Given the description of an element on the screen output the (x, y) to click on. 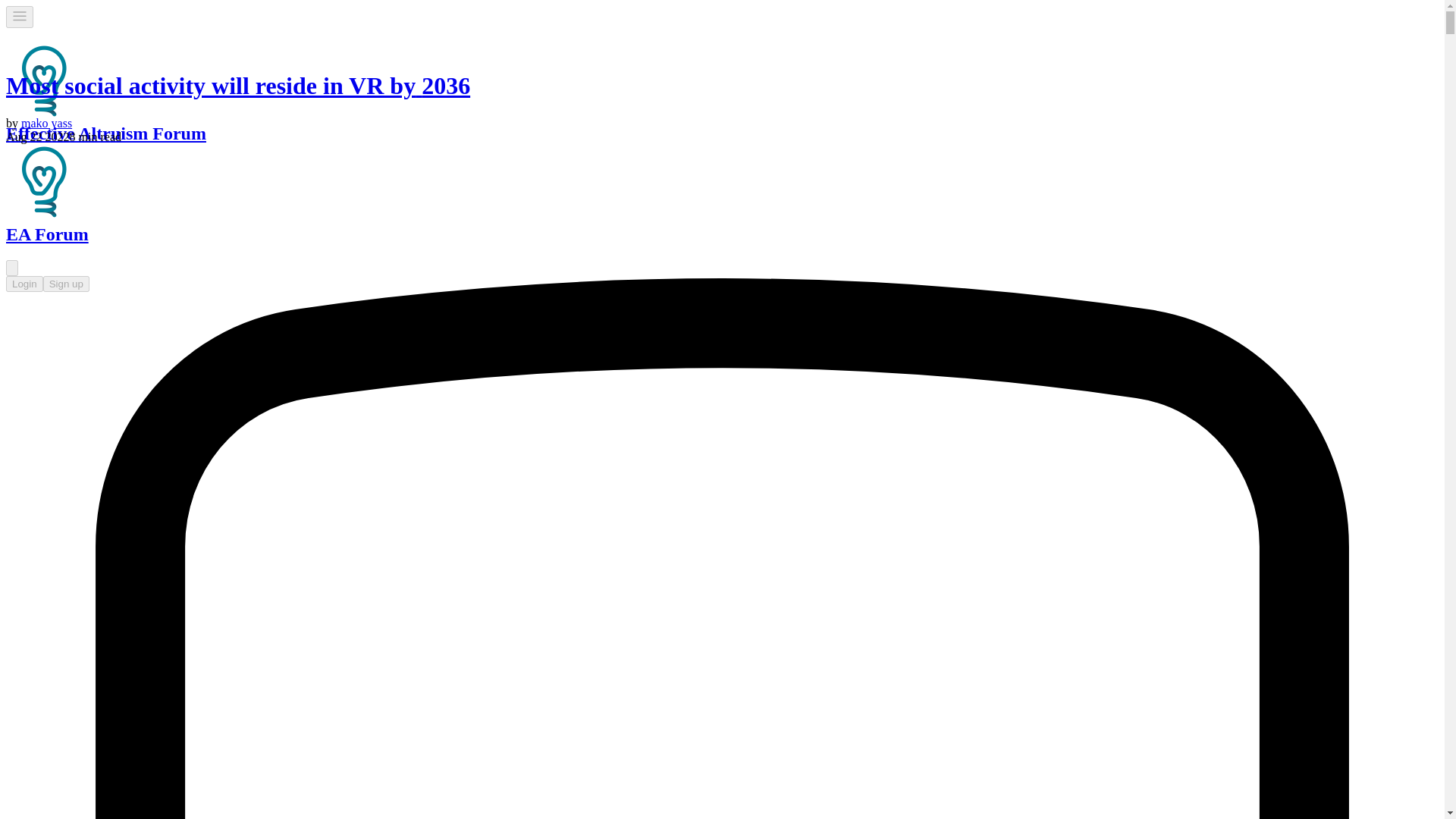
Effective Altruism Forum (43, 80)
Login (24, 283)
Most social activity will reside in VR by 2036 (237, 85)
Effective Altruism Forum (43, 182)
Sign up (65, 283)
mako yass (46, 123)
